Given the description of an element on the screen output the (x, y) to click on. 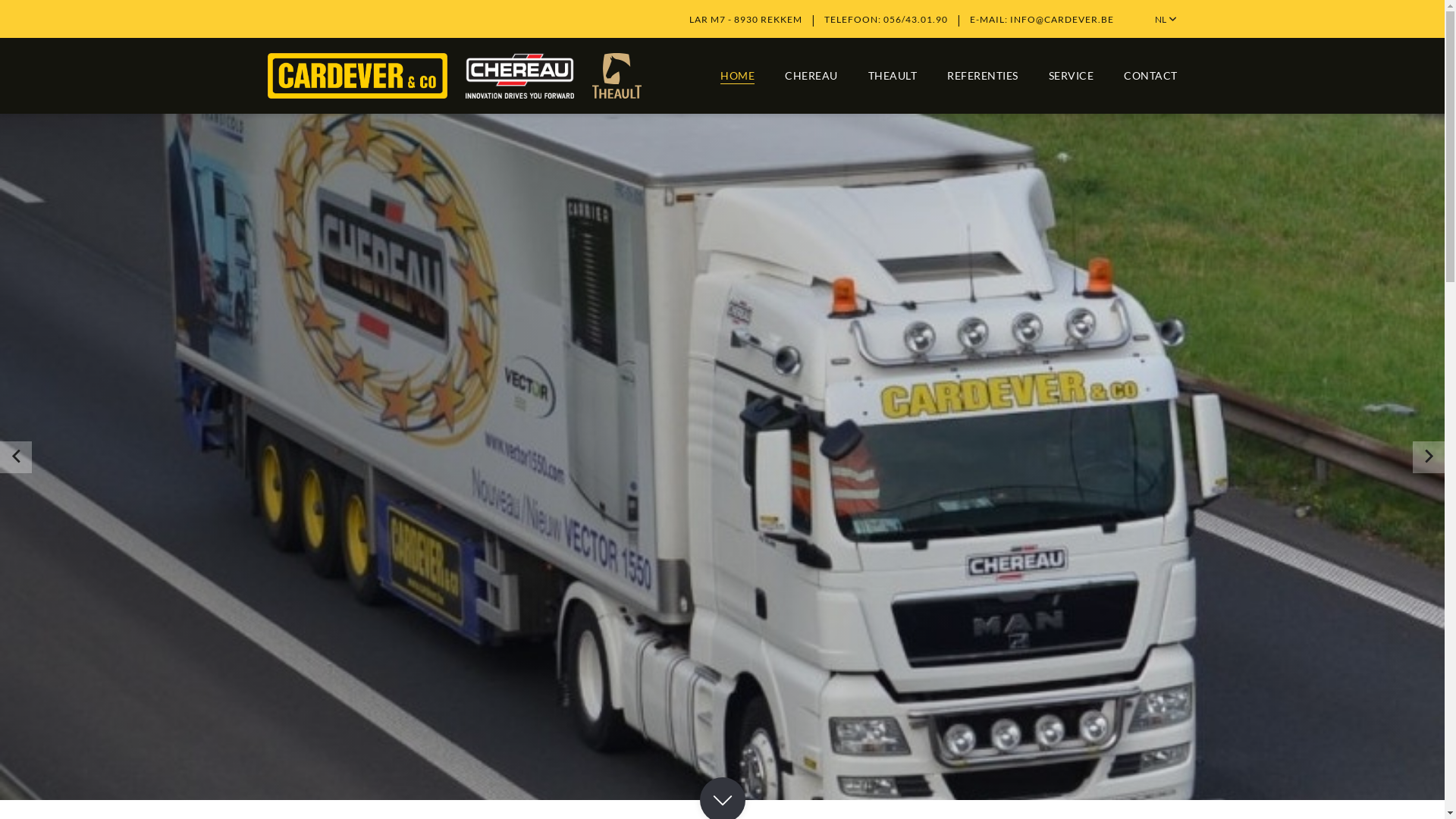
SERVICE Element type: text (1070, 75)
LAR M7 - 8930 REKKEM Element type: text (744, 19)
Volgende Element type: text (1428, 457)
HOME Element type: text (737, 75)
CONTACT Element type: text (1150, 75)
NL Element type: text (1165, 19)
INFO@CARDEVER.BE Element type: text (1061, 19)
056/43.01.90 Element type: text (914, 19)
CHEREAU Element type: text (810, 75)
THEAULT Element type: text (891, 75)
Vorige Element type: text (15, 457)
REFERENTIES Element type: text (982, 75)
